Given the description of an element on the screen output the (x, y) to click on. 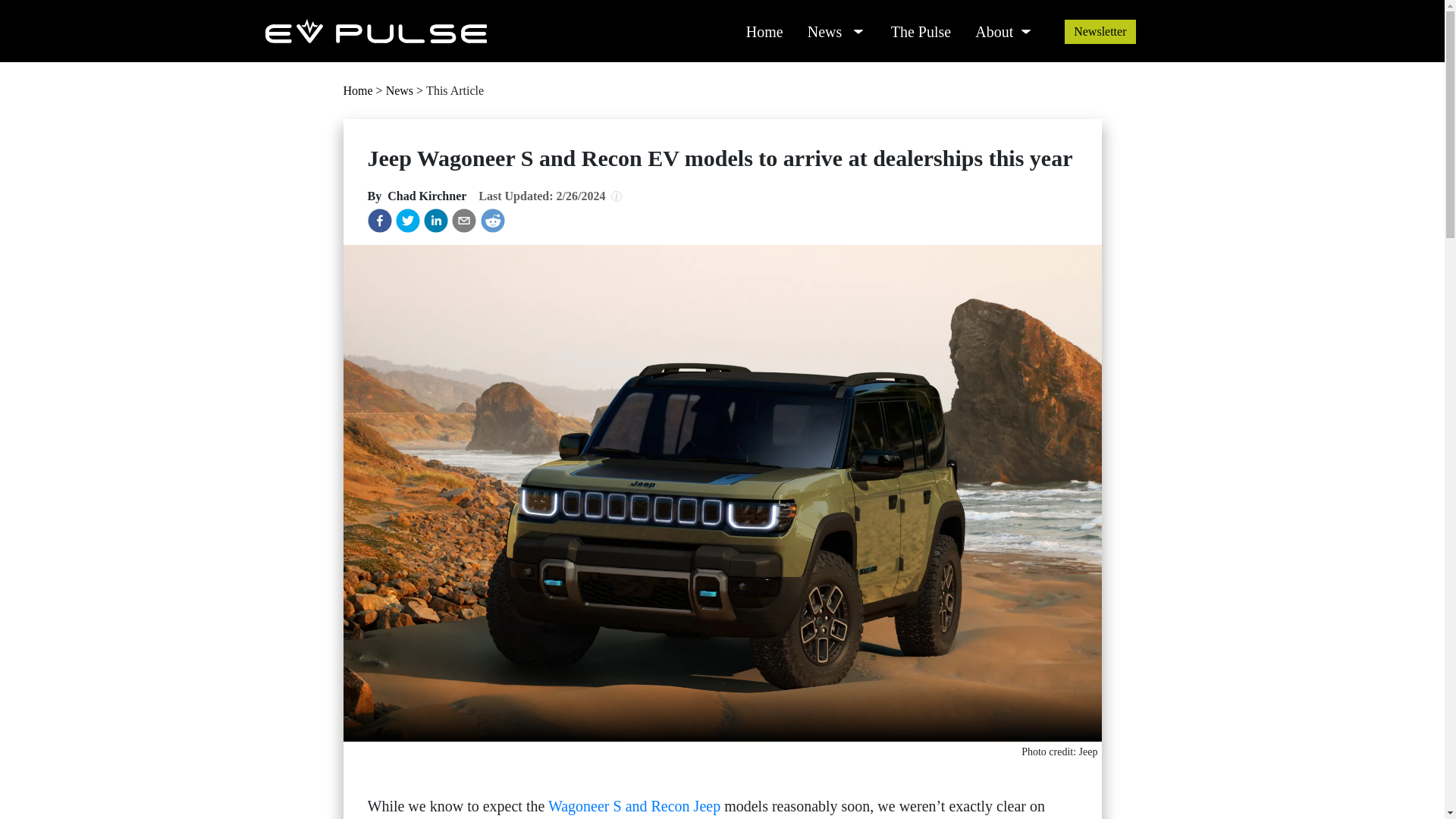
Wagoneer S and Recon Jeep (634, 805)
Home (763, 27)
News (820, 27)
Newsletter (1099, 31)
About (988, 27)
The Pulse (920, 27)
Newsletter (1099, 31)
